Given the description of an element on the screen output the (x, y) to click on. 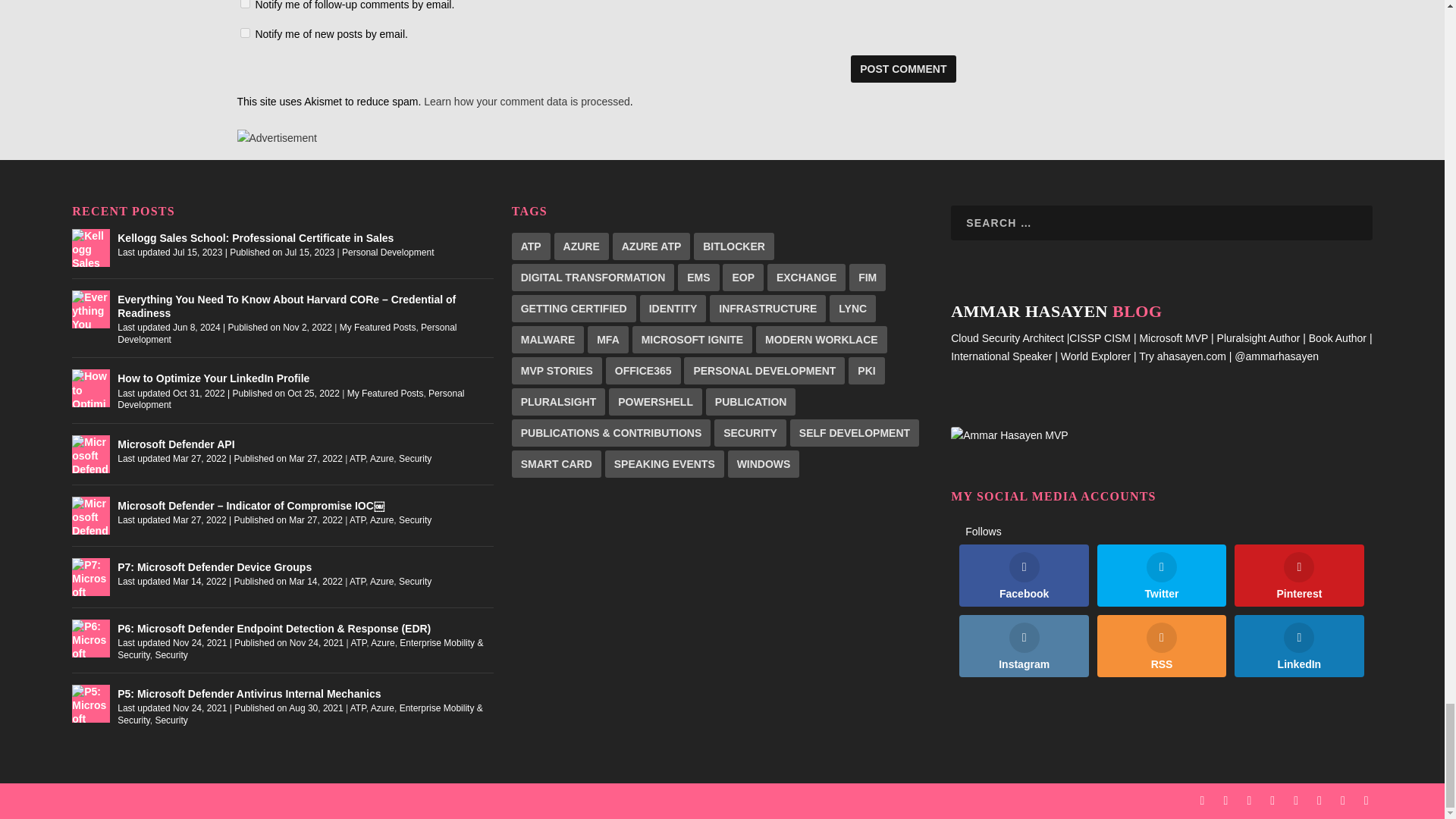
subscribe (244, 32)
subscribe (244, 4)
Post Comment (902, 68)
